Given the description of an element on the screen output the (x, y) to click on. 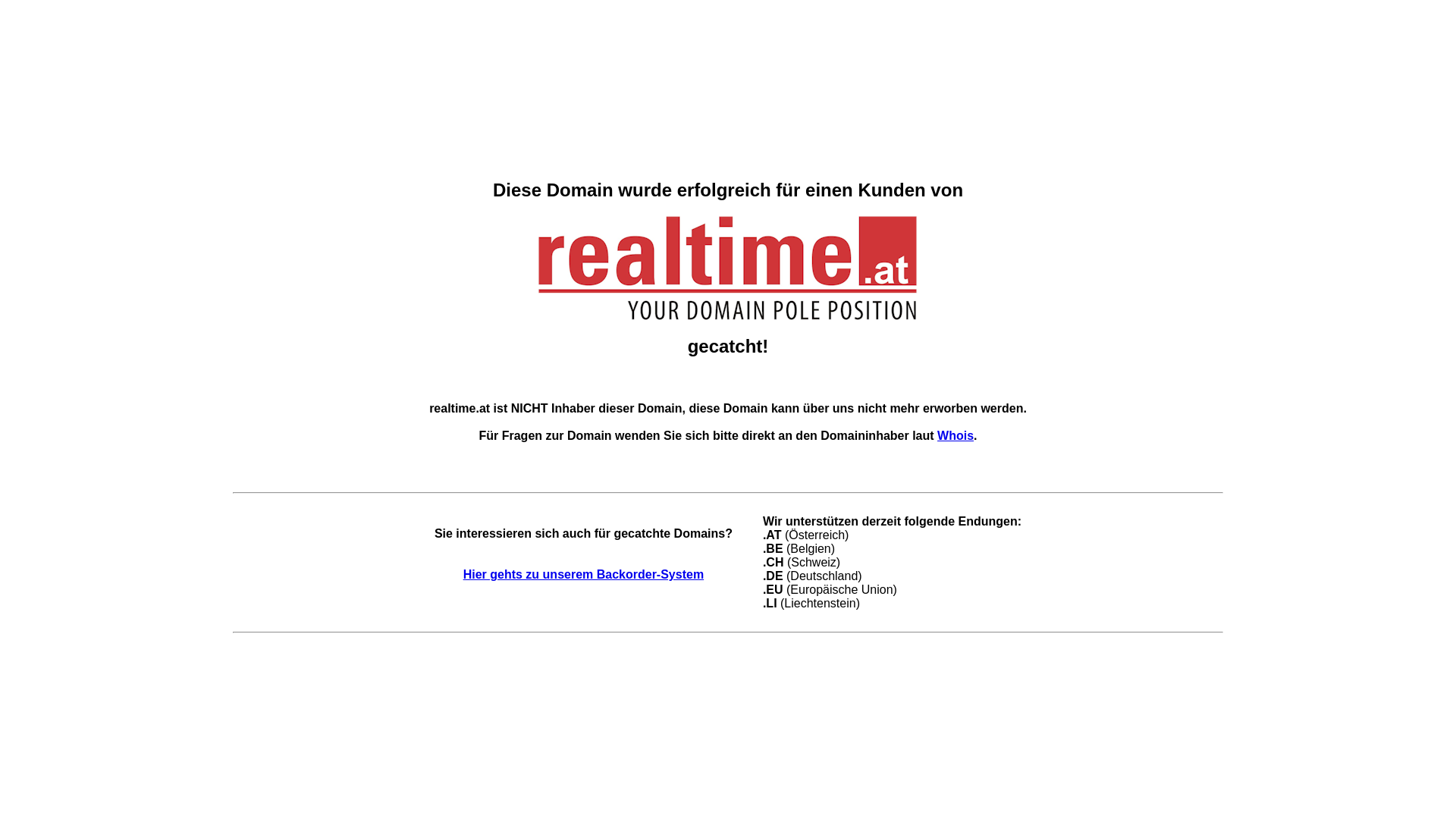
Hier gehts zu unserem Backorder-System Element type: text (583, 573)
Whois Element type: text (955, 435)
